Given the description of an element on the screen output the (x, y) to click on. 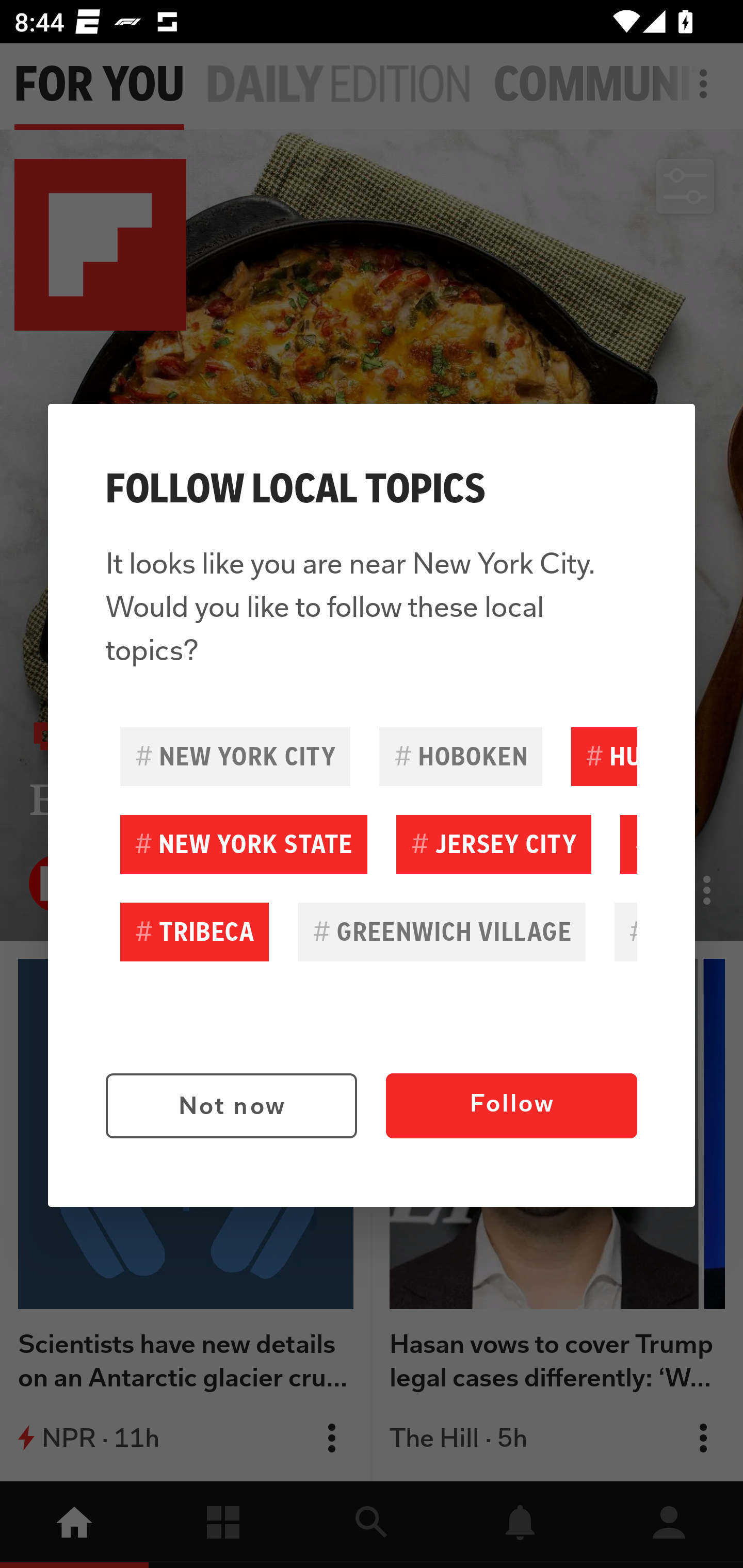
# NEW YORK CITY (235, 756)
# HOBOKEN (460, 756)
# NEW YORK STATE (243, 844)
# JERSEY CITY (493, 844)
# TRIBECA (194, 932)
# GREENWICH VILLAGE (441, 932)
Not now (231, 1106)
Follow (511, 1106)
